Given the description of an element on the screen output the (x, y) to click on. 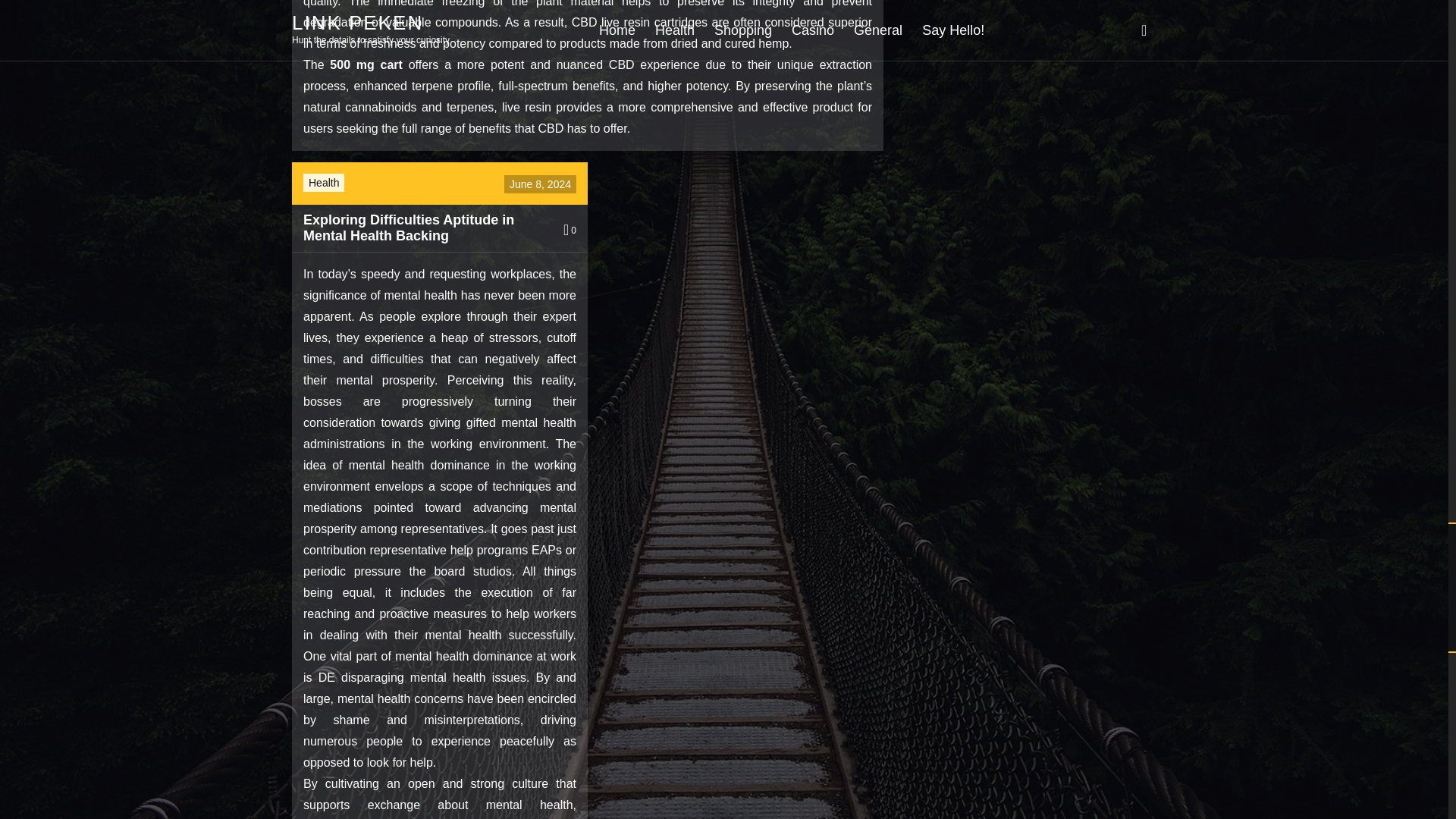
500 mg cart (366, 64)
Health (323, 182)
Exploring Difficulties Aptitude in Mental Health Backing (421, 228)
0 (569, 230)
